Given the description of an element on the screen output the (x, y) to click on. 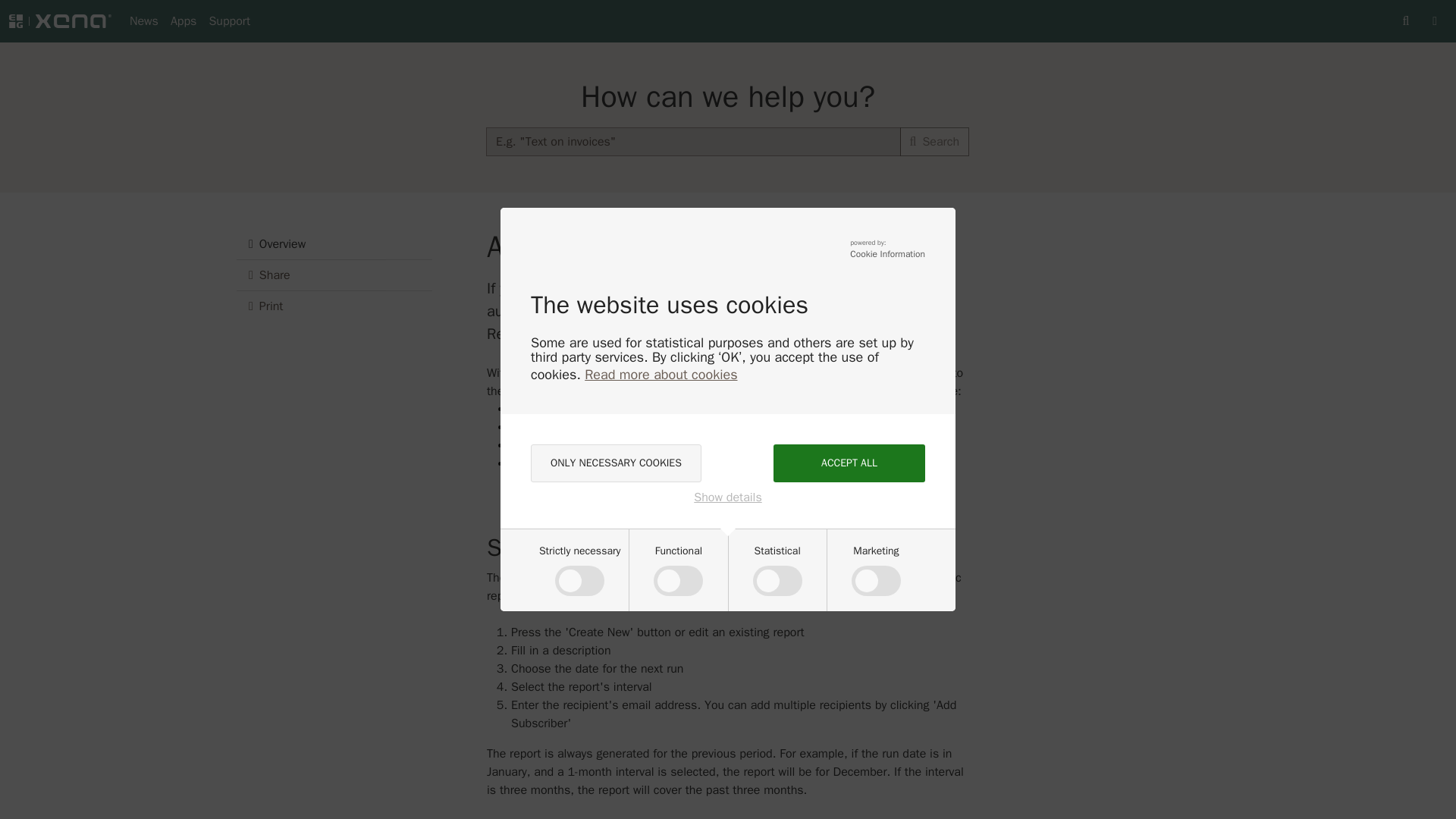
ACCEPT ALL (848, 463)
Cookie Information (887, 254)
Skip to content (41, 11)
Show details (727, 497)
Read more about cookies (660, 374)
ONLY NECESSARY COOKIES (616, 463)
